Given the description of an element on the screen output the (x, y) to click on. 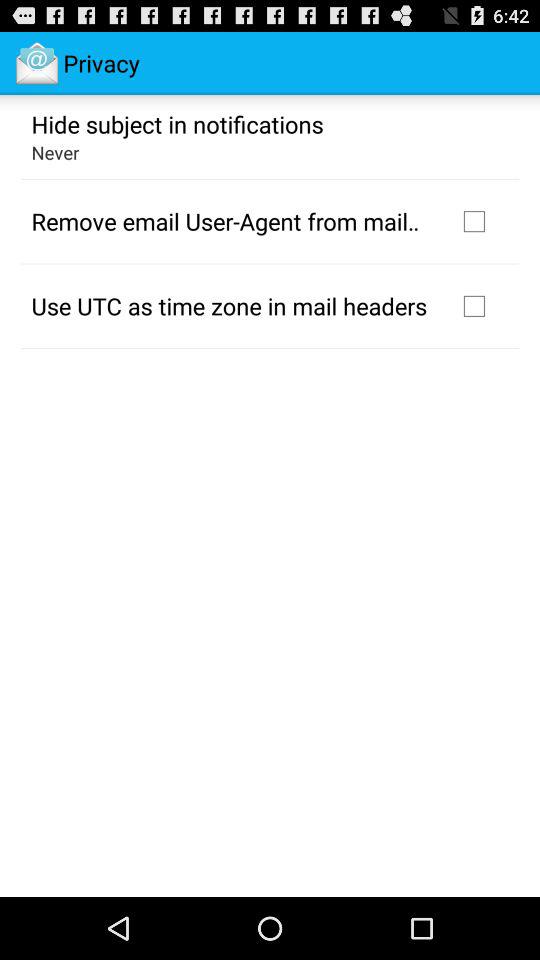
launch the app above never icon (177, 123)
